Given the description of an element on the screen output the (x, y) to click on. 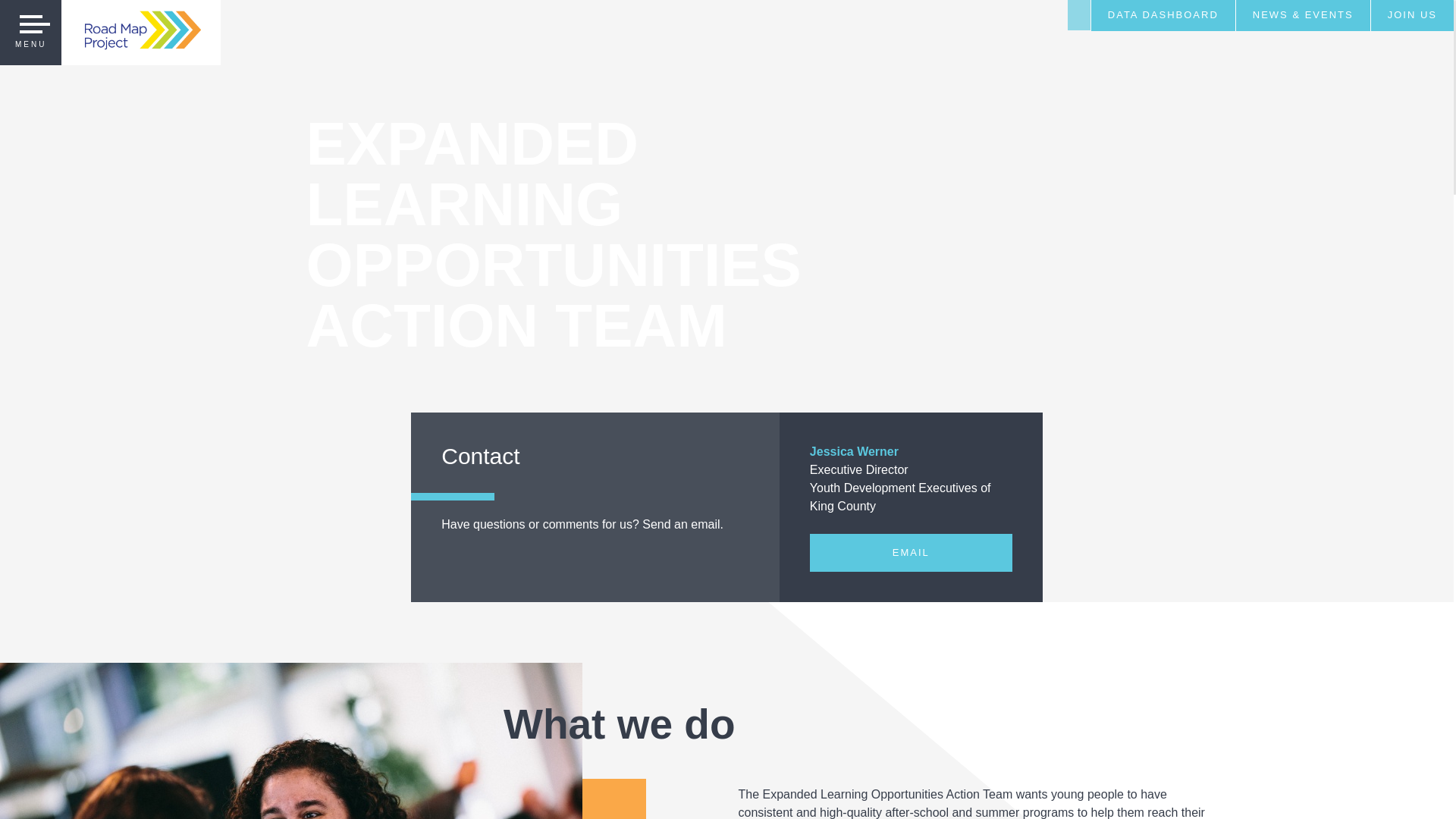
MENU (30, 32)
EMAIL (910, 552)
DATA DASHBOARD (1163, 15)
Jessica Werner (853, 451)
